Given the description of an element on the screen output the (x, y) to click on. 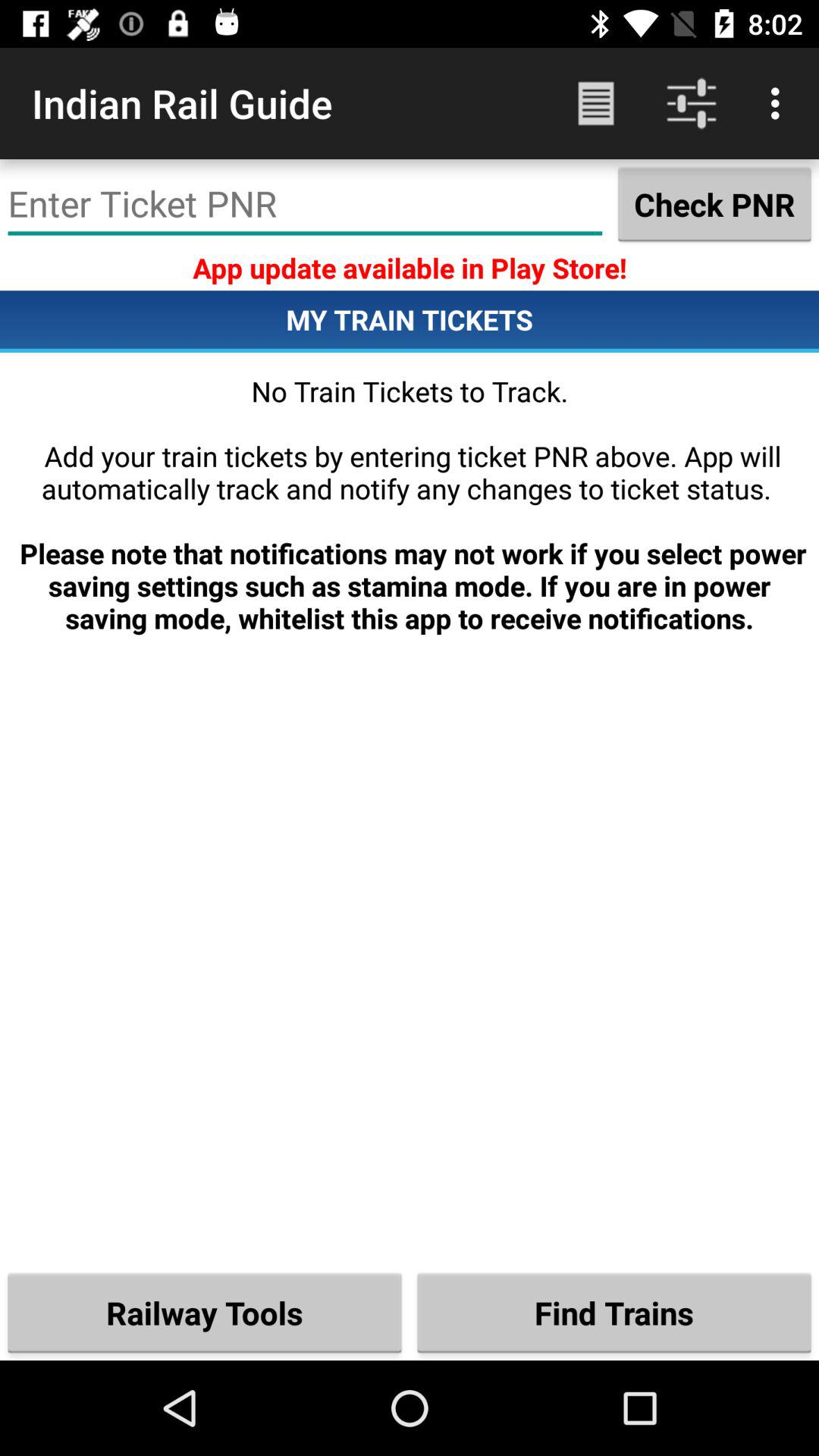
launch item above the app update available item (714, 204)
